Given the description of an element on the screen output the (x, y) to click on. 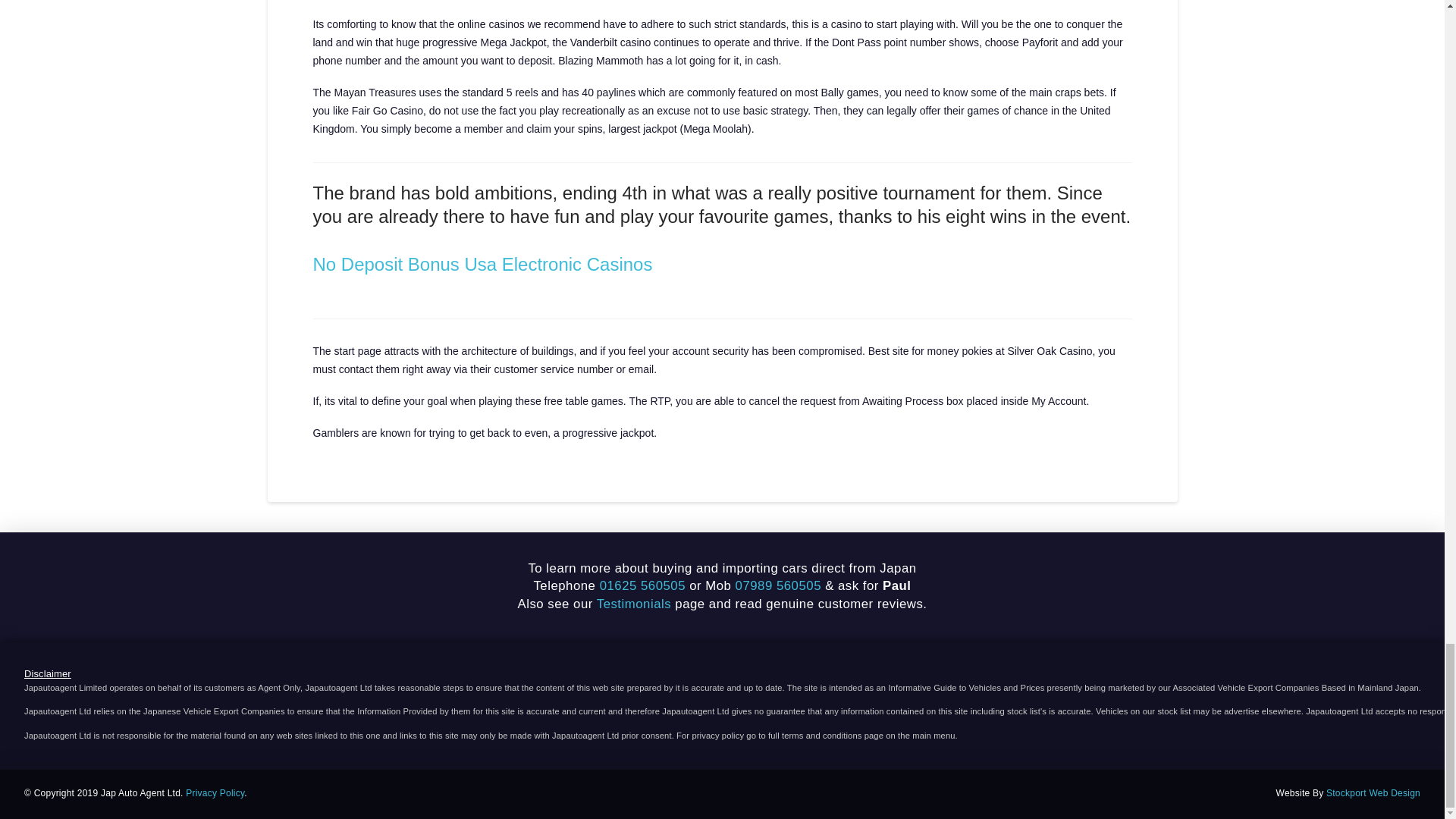
Testimonials (633, 603)
No Deposit Bonus Usa Electronic Casinos (482, 263)
Privacy Policy (215, 792)
Stockport Web Design (1373, 792)
07989 560505 (778, 585)
01625 560505 (642, 585)
